Given the description of an element on the screen output the (x, y) to click on. 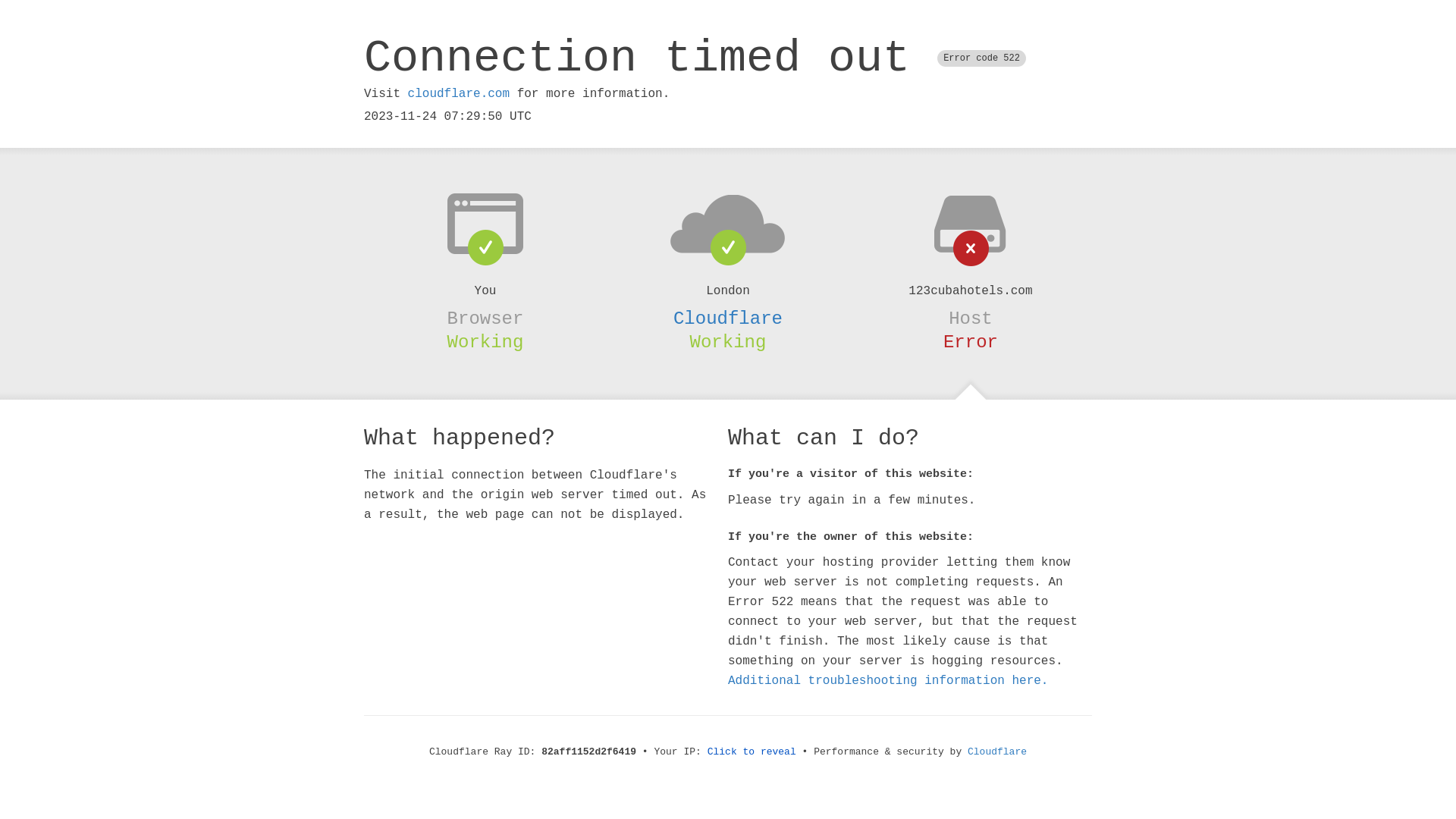
Additional troubleshooting information here. Element type: text (888, 680)
Click to reveal Element type: text (751, 751)
cloudflare.com Element type: text (458, 93)
Cloudflare Element type: text (996, 751)
Cloudflare Element type: text (727, 318)
